Given the description of an element on the screen output the (x, y) to click on. 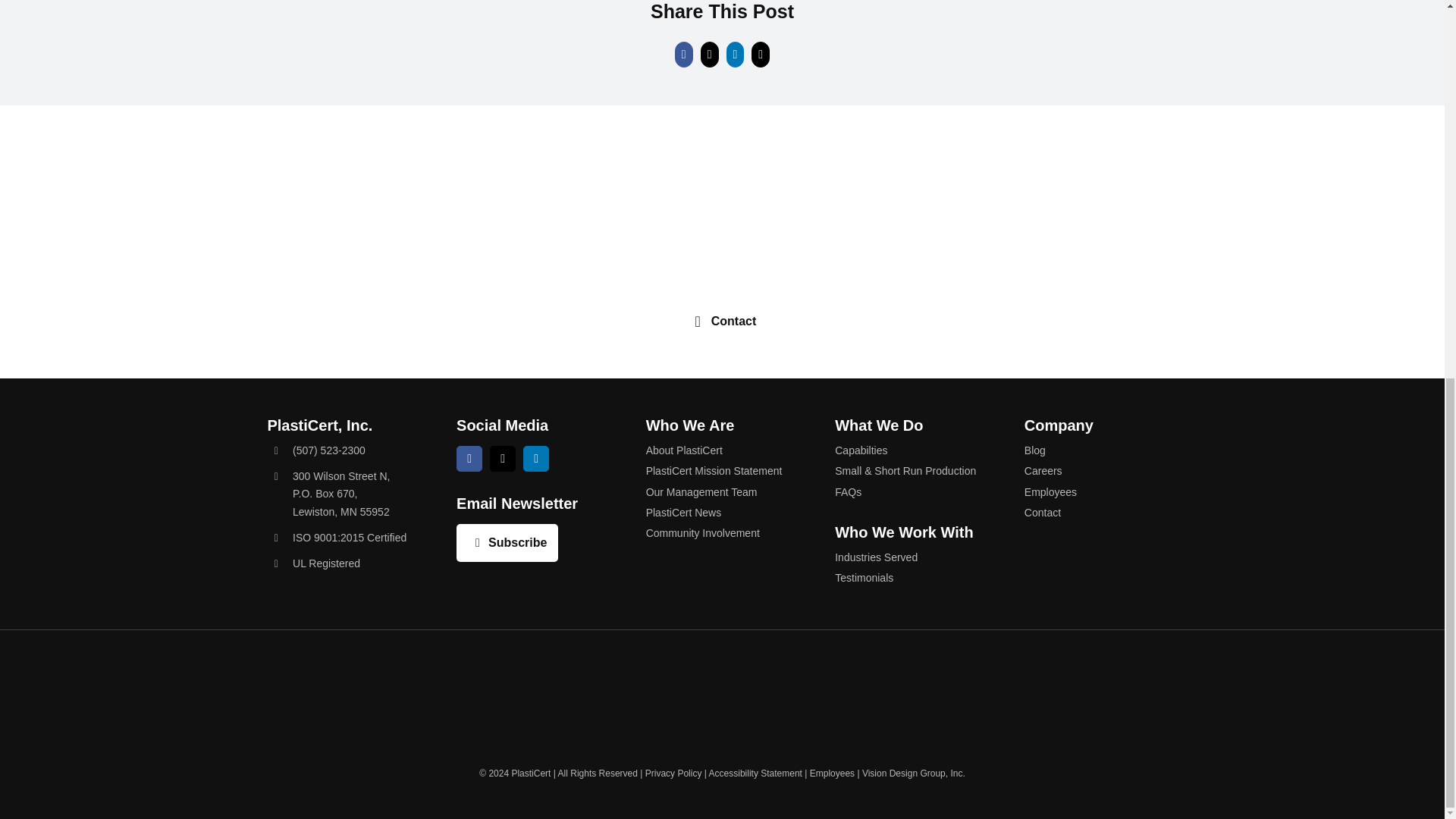
Our Management Team (722, 492)
PlastiCert Mission Statement (722, 470)
About PlastiCert (722, 450)
Subscribe (507, 542)
Facebook (341, 494)
Contact (469, 458)
Subscribe (721, 321)
LinkedIn (507, 542)
X (535, 458)
